Given the description of an element on the screen output the (x, y) to click on. 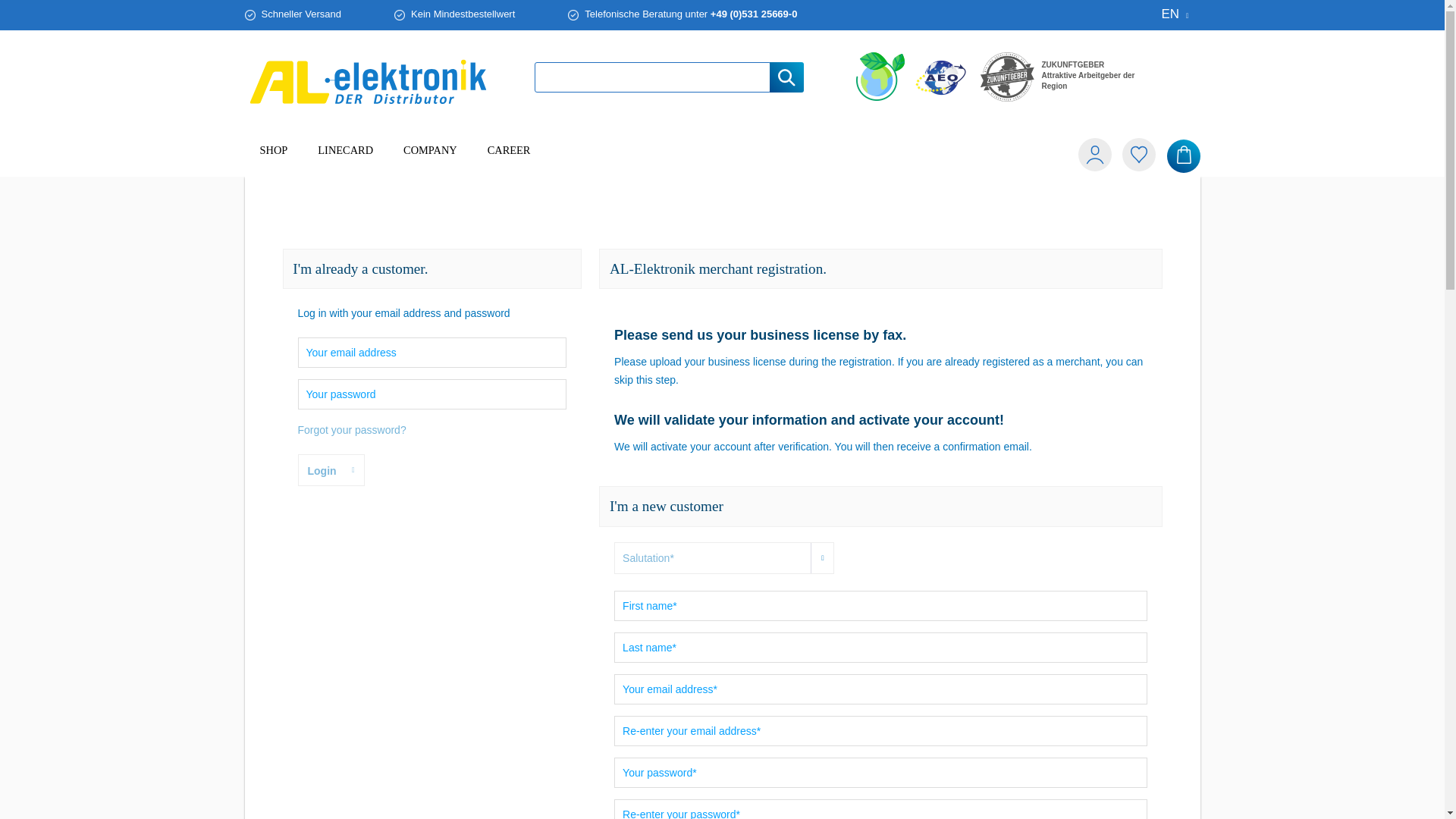
CAREER (508, 156)
LINECARD (721, 156)
COMPANY (345, 150)
0 (429, 156)
AL-Elektronik - Switch to homepage (1134, 156)
COMPANY (368, 81)
Sustainability (429, 150)
CAREER (880, 76)
Future employer (721, 156)
LINECARD (508, 150)
SHOP (1006, 76)
SHOP (345, 156)
